Given the description of an element on the screen output the (x, y) to click on. 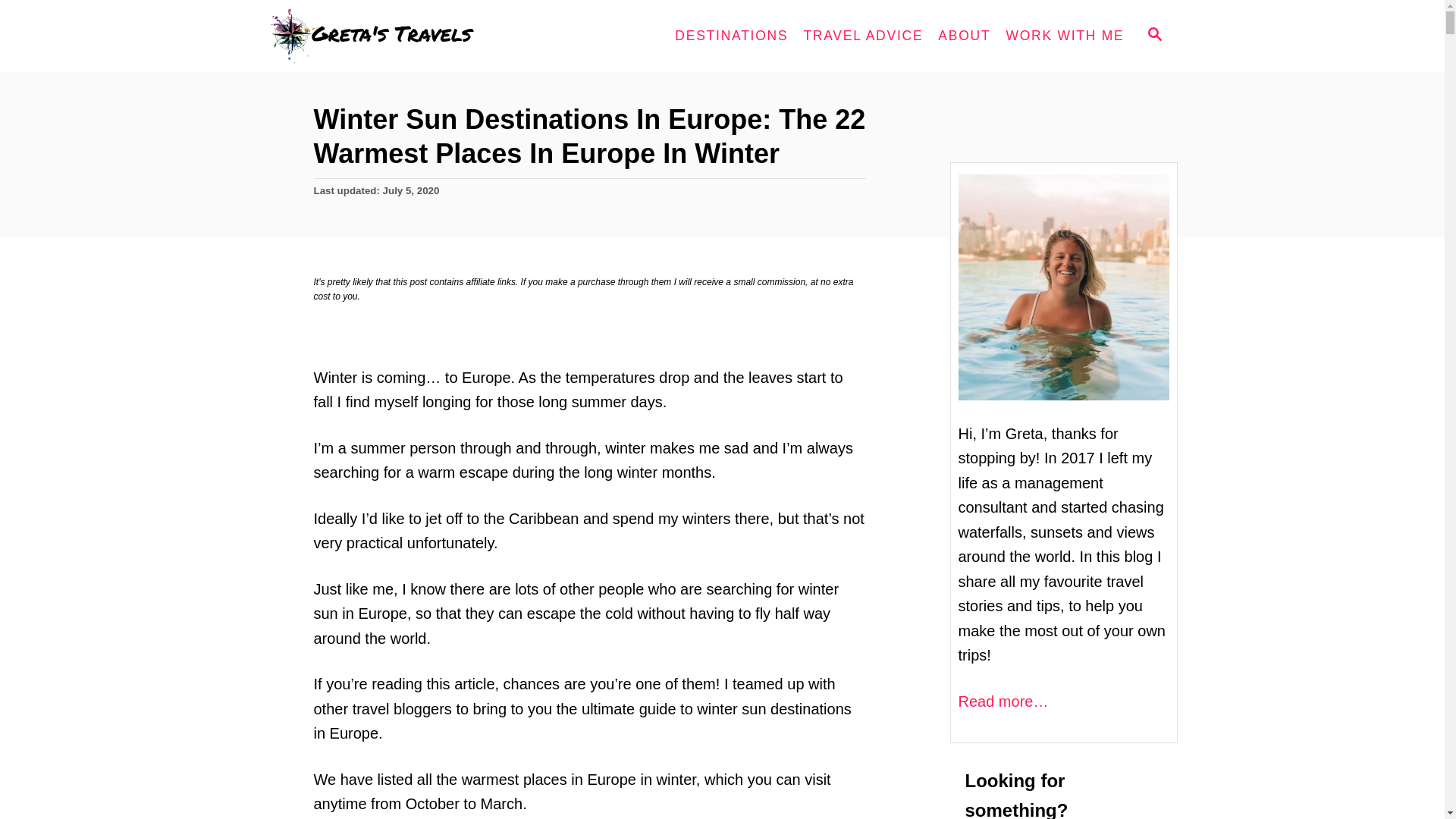
DESTINATIONS (730, 36)
Greta's Travels (403, 36)
SEARCH (1153, 35)
